Given the description of an element on the screen output the (x, y) to click on. 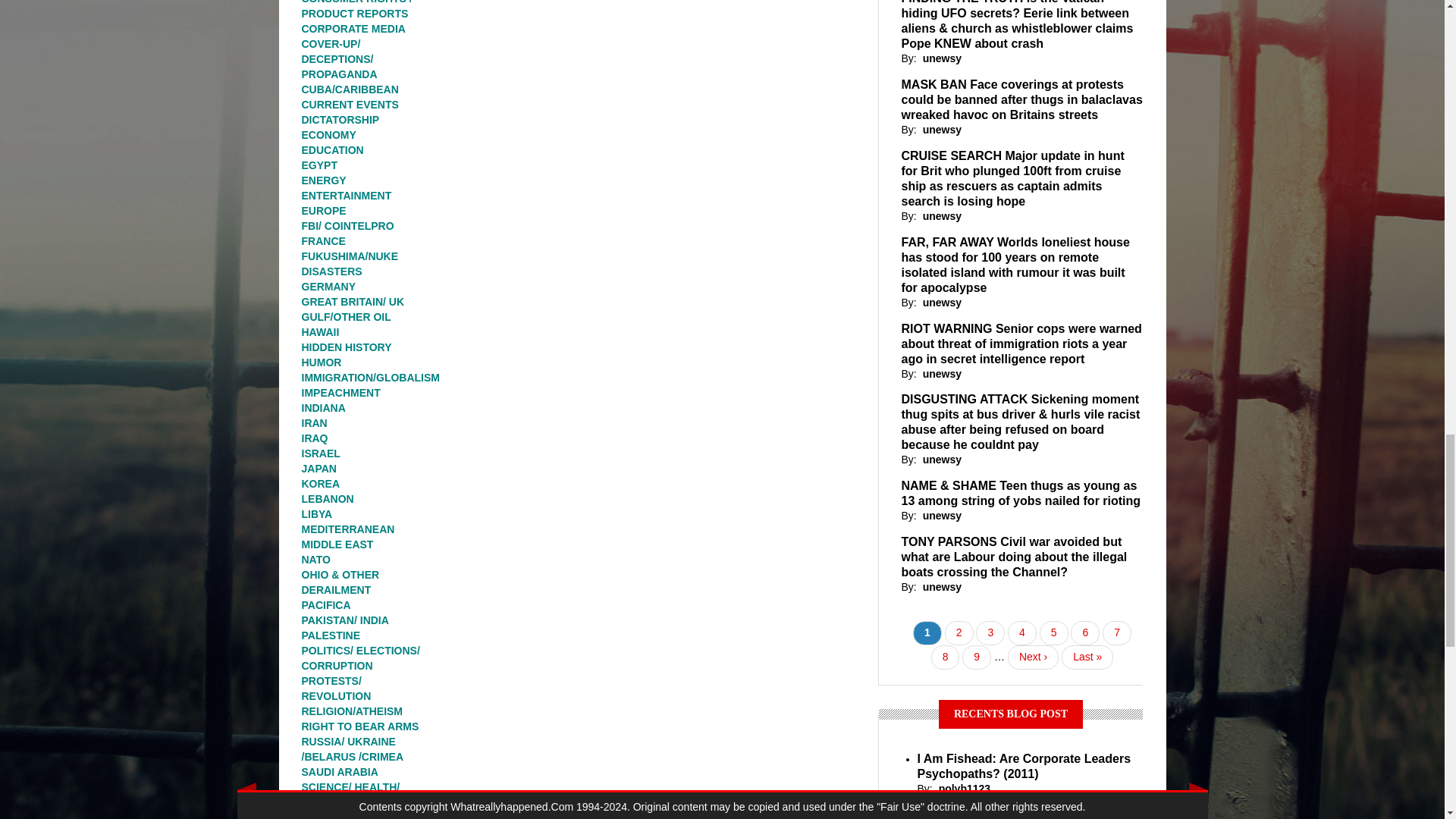
Go to page 6 (1084, 632)
Go to next page (1032, 657)
Go to page 7 (1116, 632)
Go to page 2 (959, 632)
Go to page 8 (945, 657)
Go to page 5 (1053, 632)
Go to page 9 (976, 657)
Current page (927, 632)
Go to page 4 (1021, 632)
Go to last page (1087, 657)
